Given the description of an element on the screen output the (x, y) to click on. 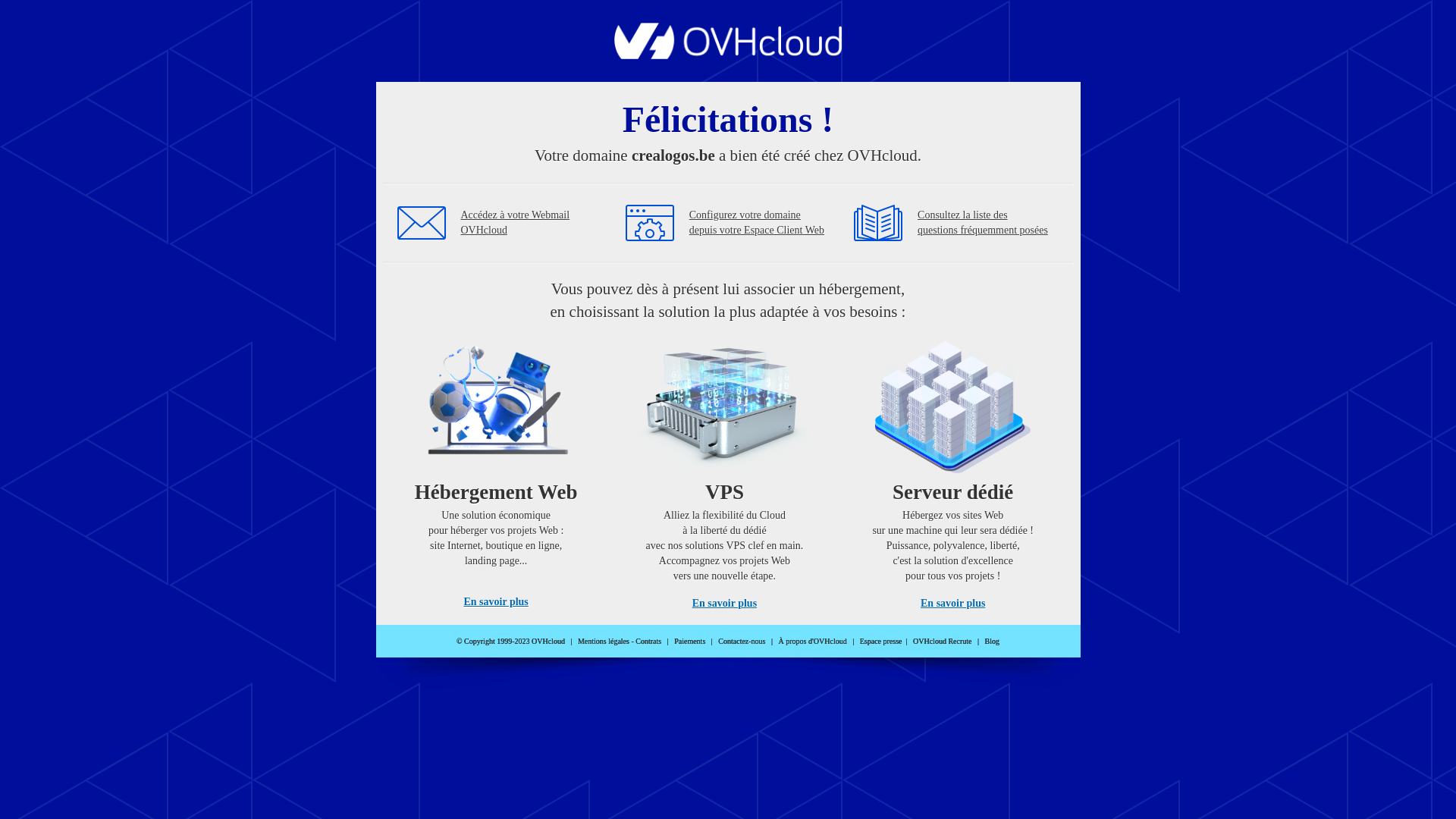
Blog Element type: text (992, 641)
OVHcloud Element type: hover (727, 54)
Paiements Element type: text (689, 641)
Configurez votre domaine
depuis votre Espace Client Web Element type: text (756, 222)
VPS Element type: hover (724, 469)
OVHcloud Recrute Element type: text (942, 641)
Espace presse Element type: text (880, 641)
En savoir plus Element type: text (495, 601)
Contactez-nous Element type: text (741, 641)
En savoir plus Element type: text (724, 602)
En savoir plus Element type: text (952, 602)
